Given the description of an element on the screen output the (x, y) to click on. 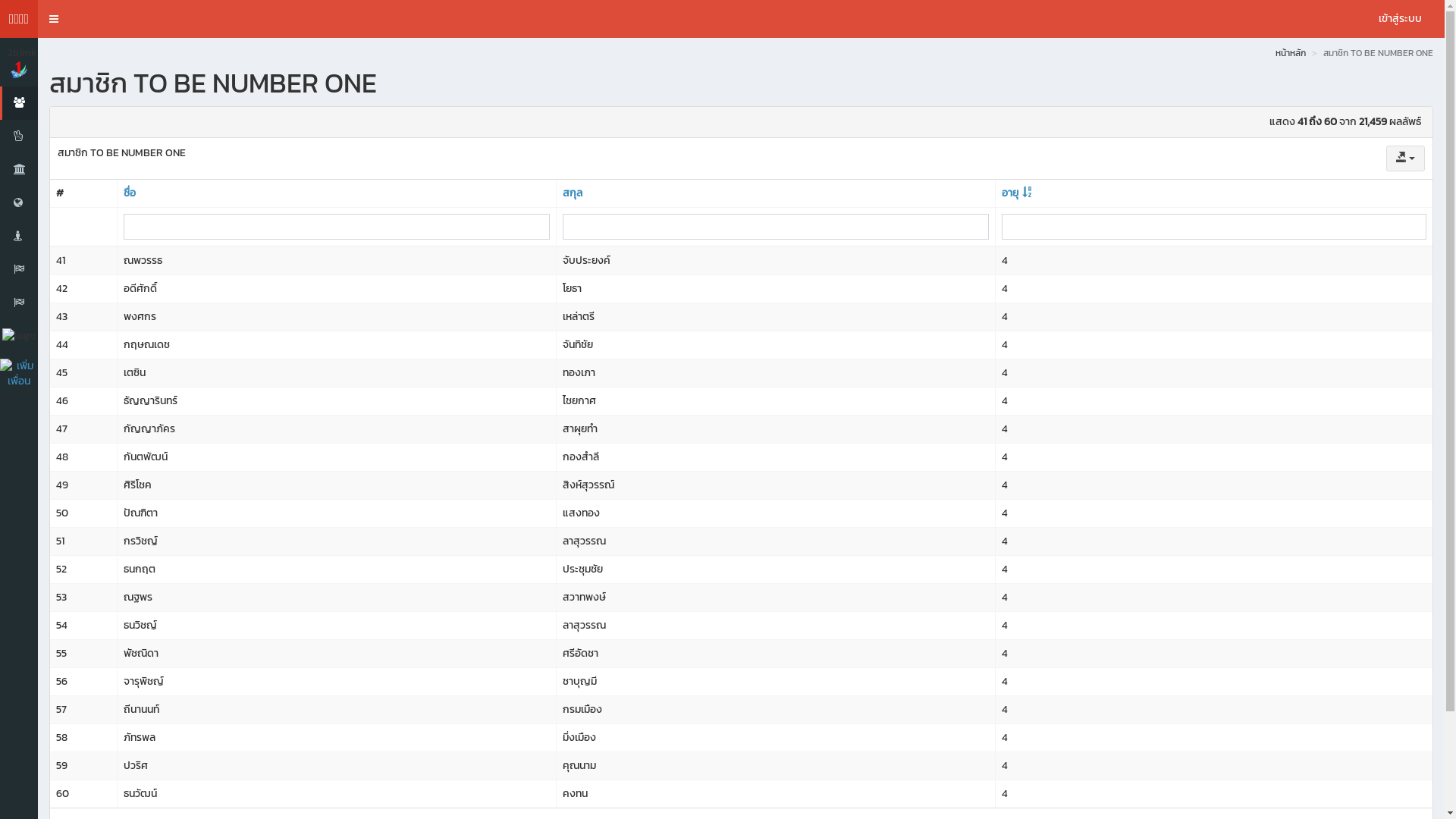
Toggle navigation Element type: text (53, 18)
